Given the description of an element on the screen output the (x, y) to click on. 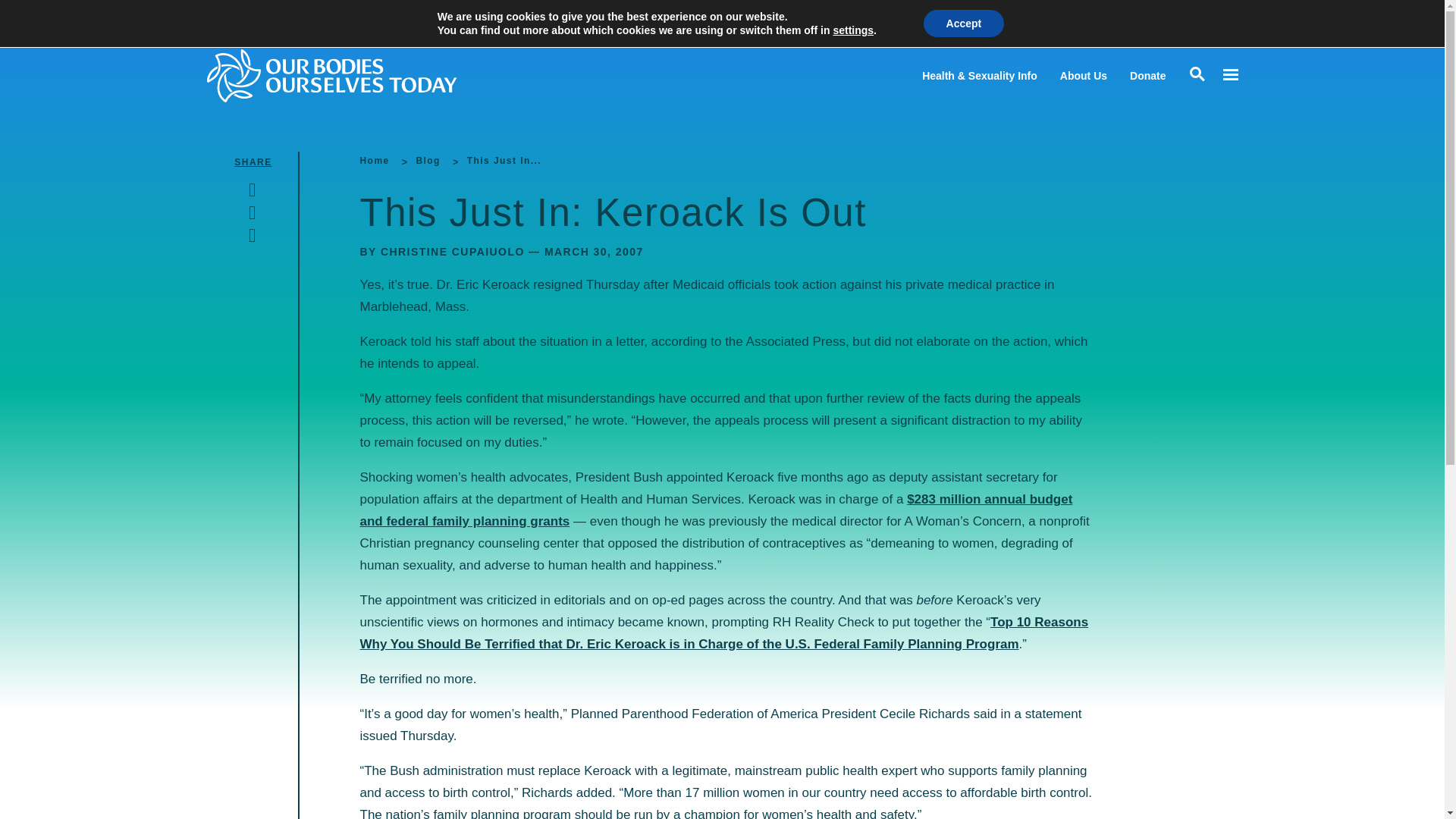
Expand navigation (1229, 75)
Home (373, 160)
About Us (1083, 75)
Our Bodies Ourselves Today (361, 75)
This Just In: Keroack Is Out (504, 160)
Blog (426, 160)
Search (15, 15)
Donate (1147, 75)
